Given the description of an element on the screen output the (x, y) to click on. 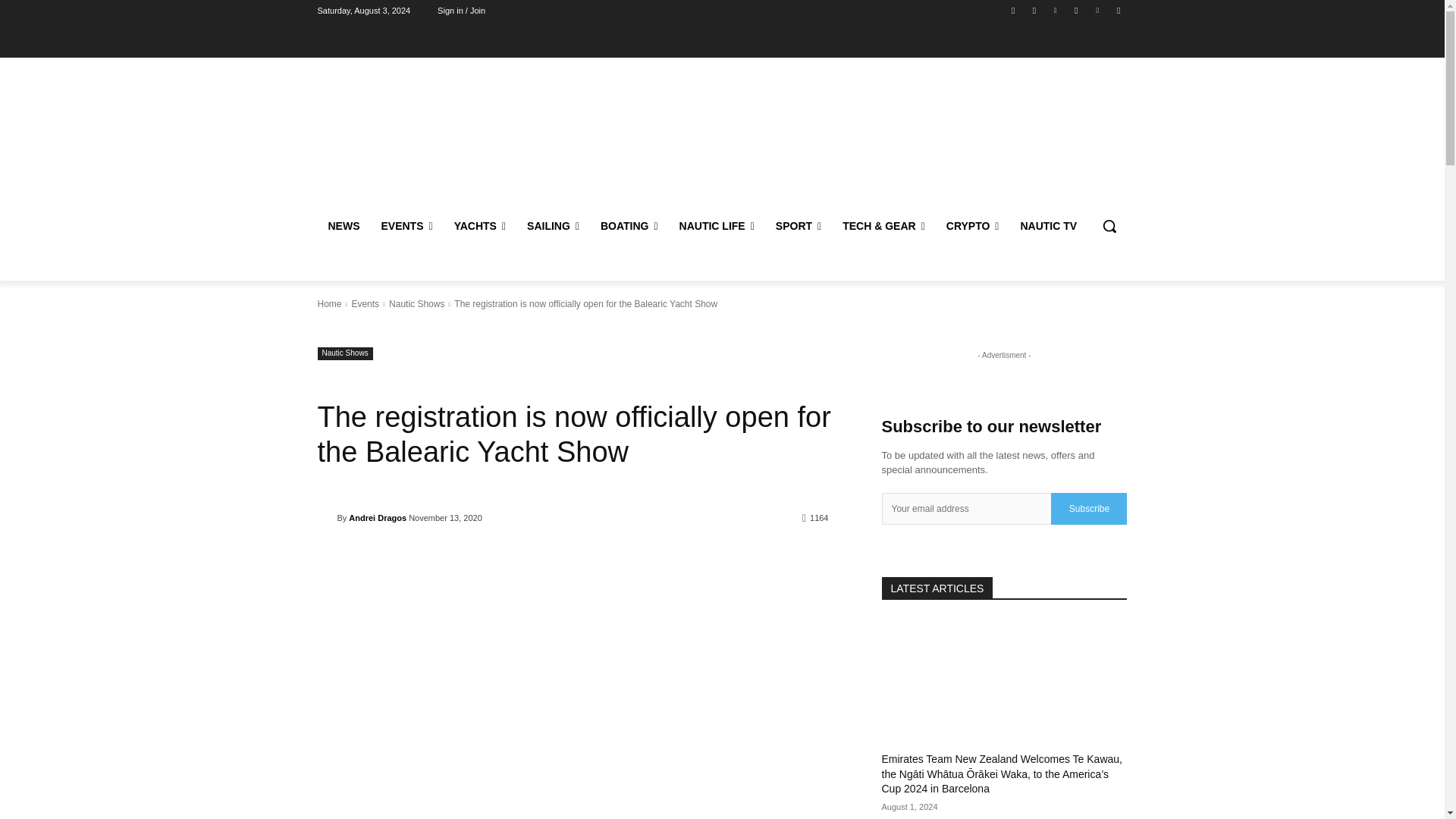
Instagram (1034, 9)
Youtube (1117, 9)
Facebook (1013, 9)
Twitter (1075, 9)
Vimeo (1097, 9)
Linkedin (1055, 9)
